Given the description of an element on the screen output the (x, y) to click on. 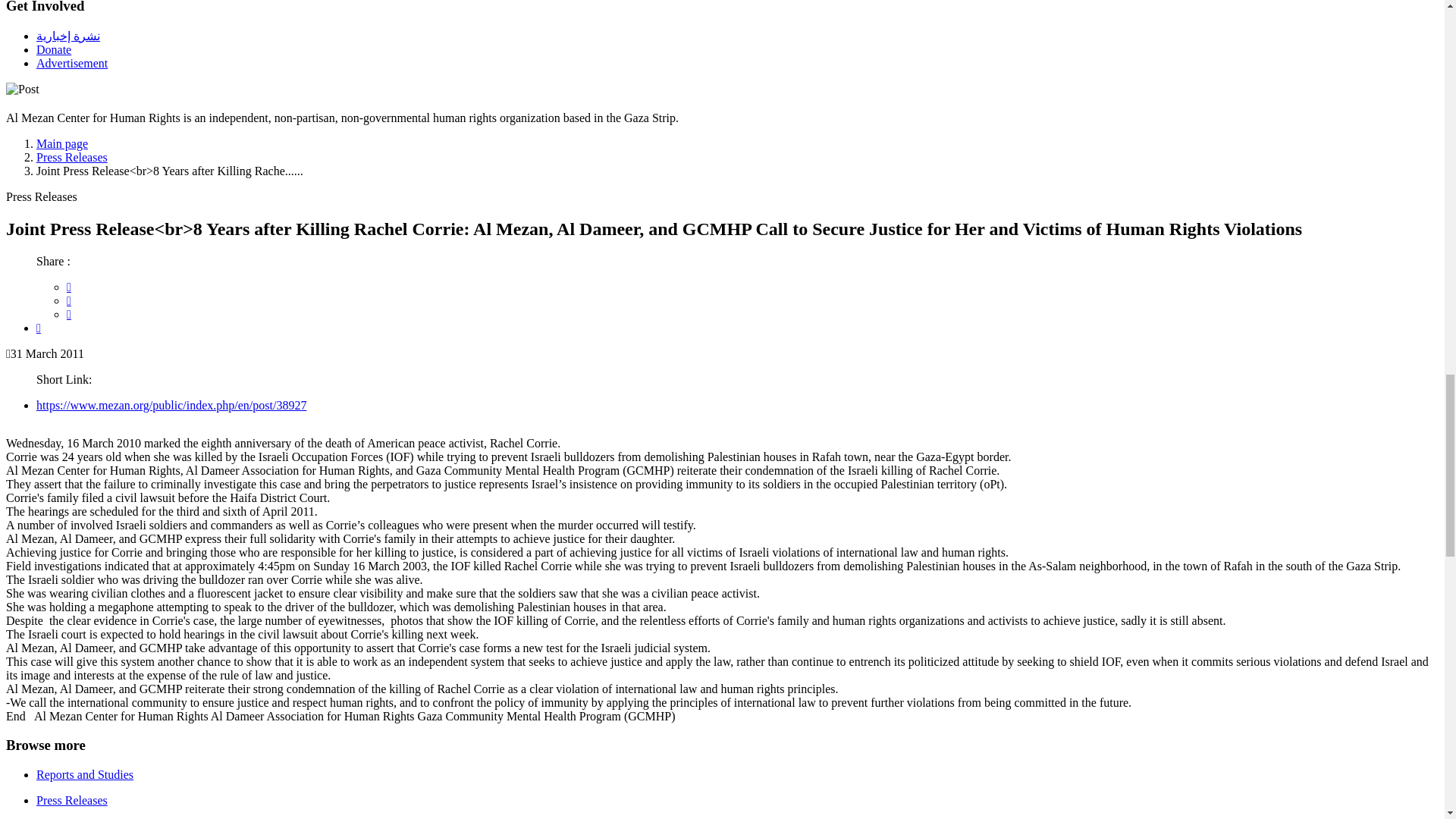
Short Link (170, 404)
